Given the description of an element on the screen output the (x, y) to click on. 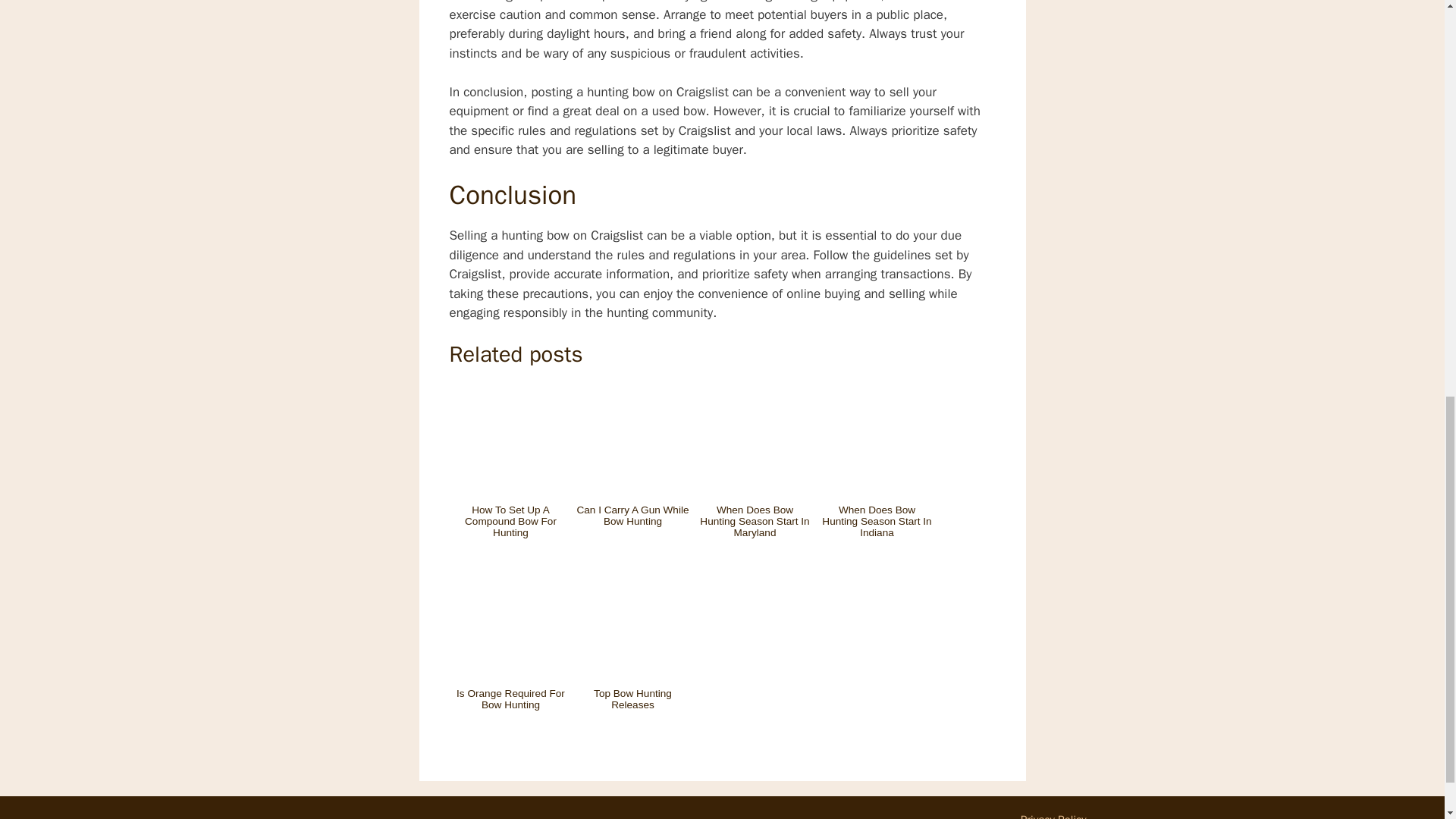
Privacy Policy (1053, 816)
